Given the description of an element on the screen output the (x, y) to click on. 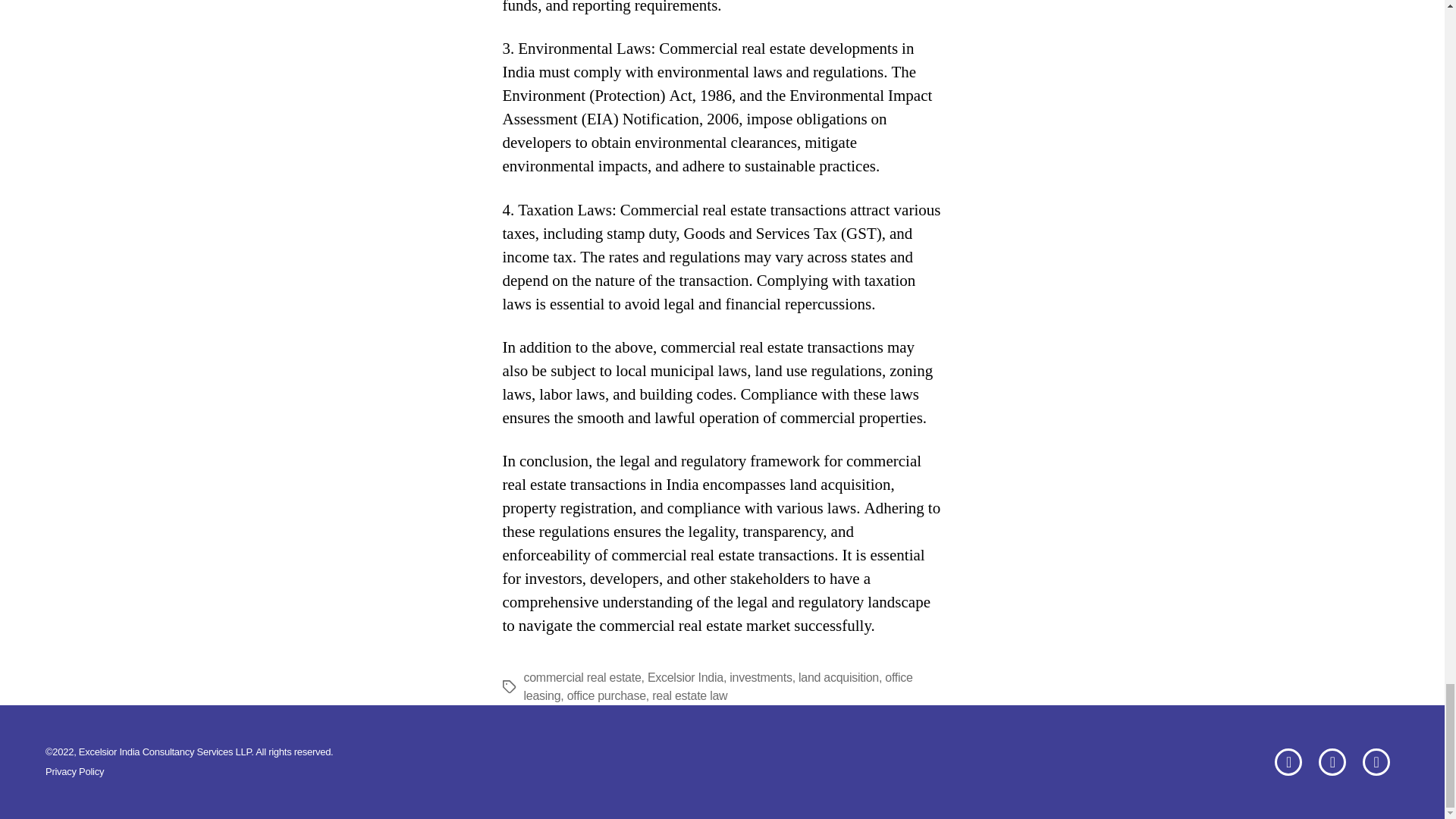
land acquisition (838, 676)
commercial real estate (581, 676)
office purchase (606, 695)
office leasing (717, 685)
investments (760, 676)
Excelsior India (685, 676)
